Given the description of an element on the screen output the (x, y) to click on. 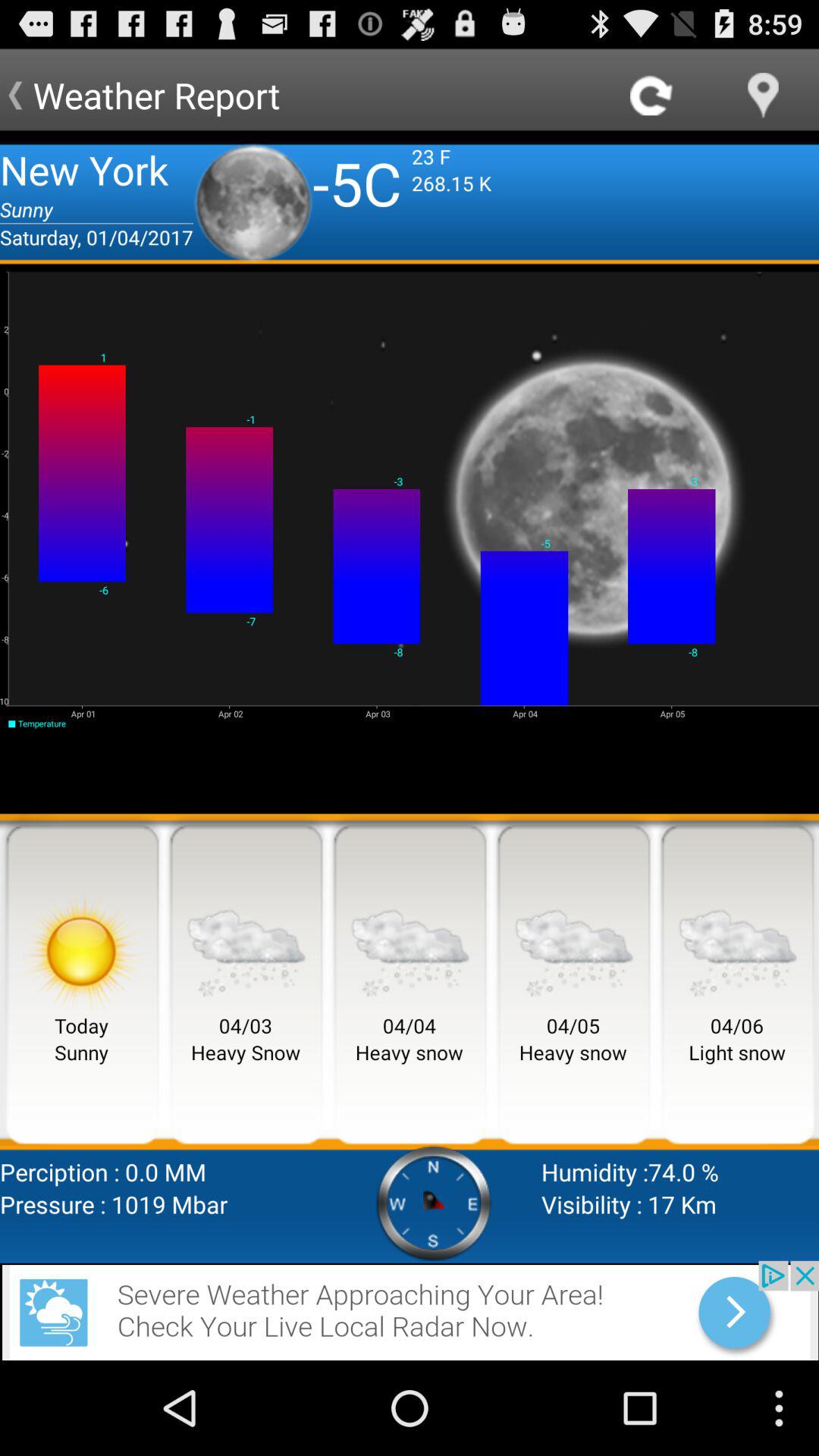
advertisement (409, 1310)
